Given the description of an element on the screen output the (x, y) to click on. 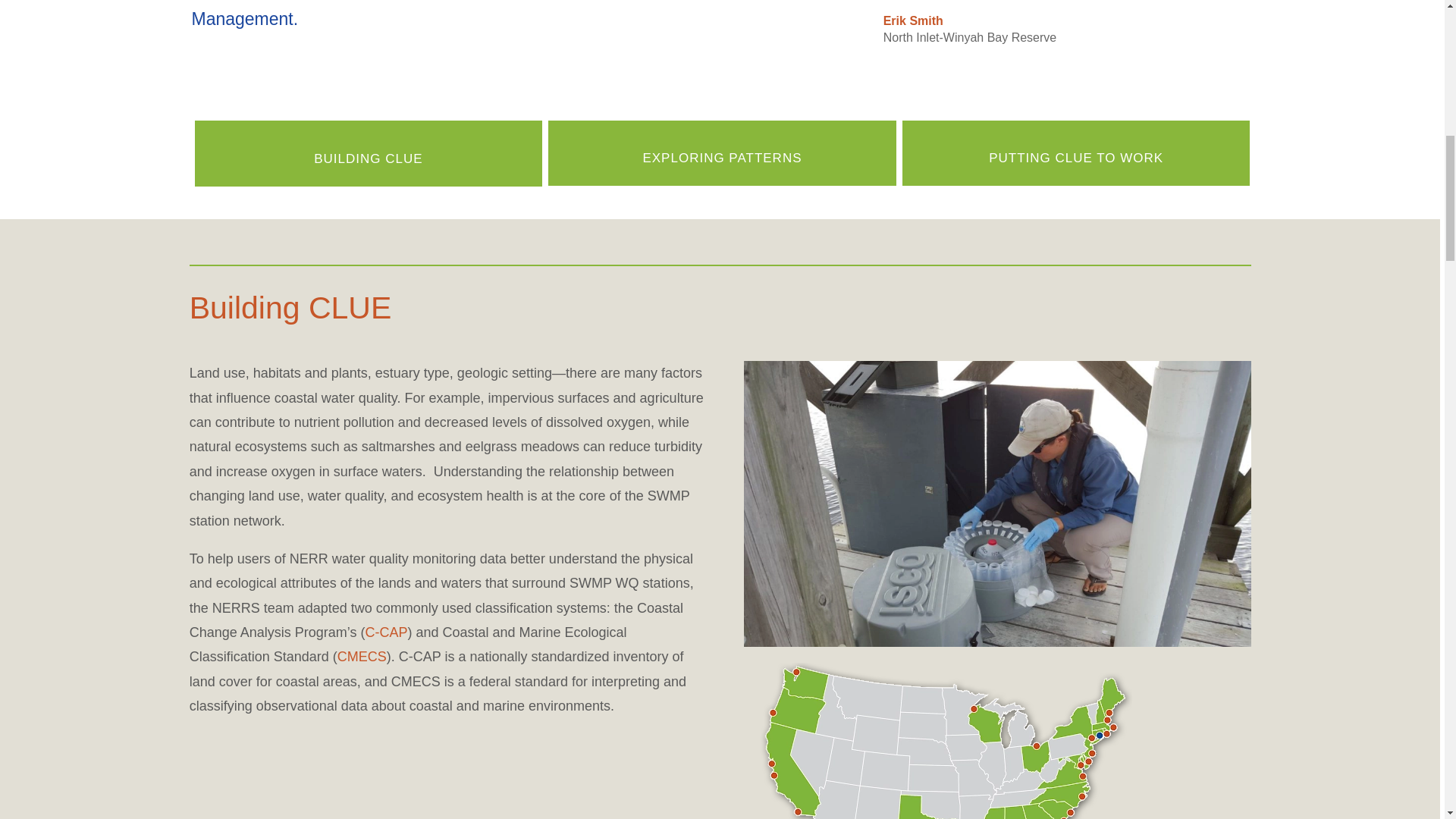
C-CAP (386, 631)
BUILDING CLUE (368, 158)
PUTTING CLUE TO WORK (1075, 157)
swmp clue map (938, 740)
EXPLORING PATTERNS (722, 157)
CMECS (362, 656)
Erik Smith (913, 20)
